Given the description of an element on the screen output the (x, y) to click on. 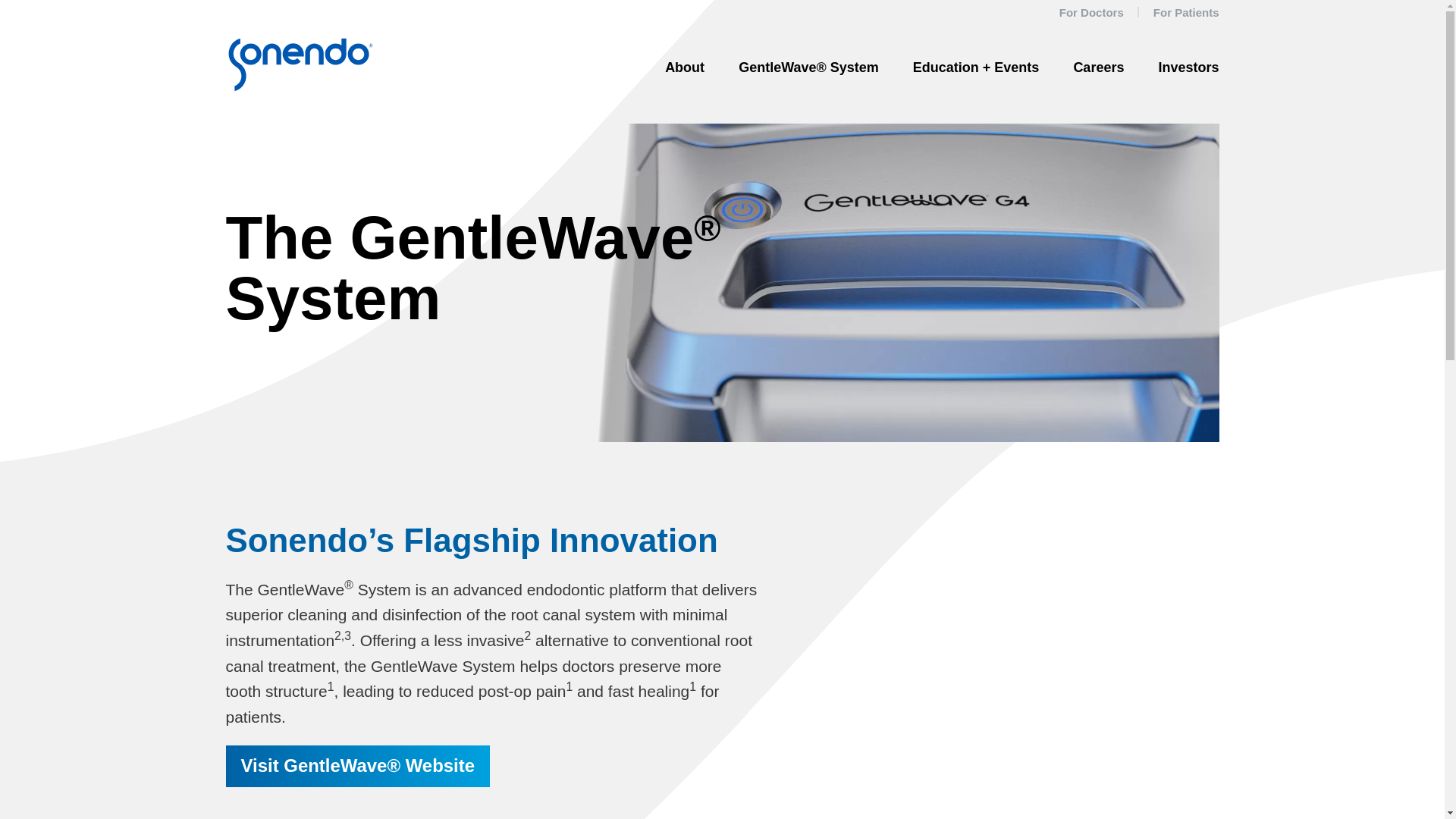
For Patients (1186, 11)
For Doctors (1091, 11)
